Given the description of an element on the screen output the (x, y) to click on. 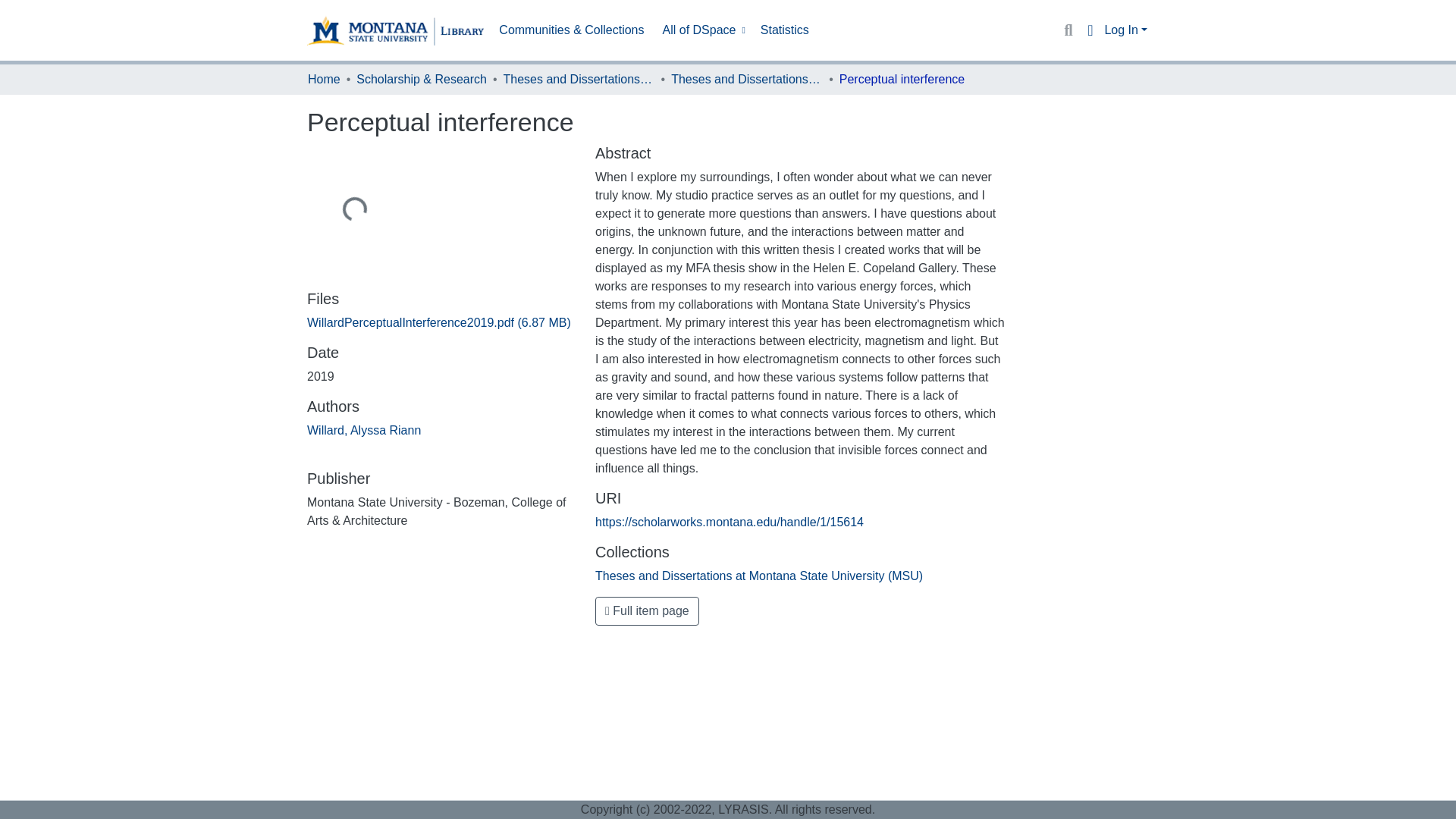
Home (323, 79)
Search (1067, 30)
Statistics (784, 30)
Language switch (1089, 30)
Log In (1125, 29)
Willard, Alyssa Riann (363, 430)
All of DSpace (702, 30)
Full item page (646, 611)
